Given the description of an element on the screen output the (x, y) to click on. 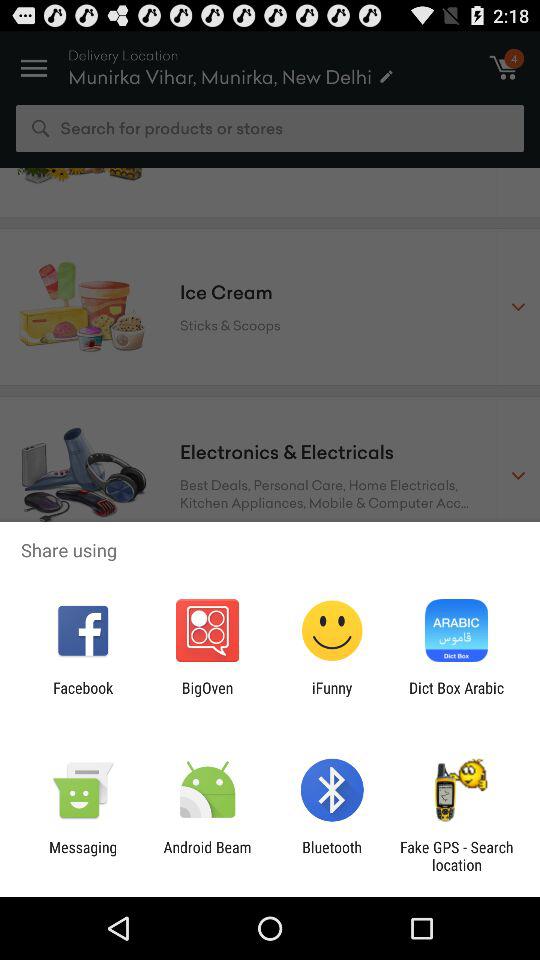
tap item next to ifunny item (456, 696)
